Given the description of an element on the screen output the (x, y) to click on. 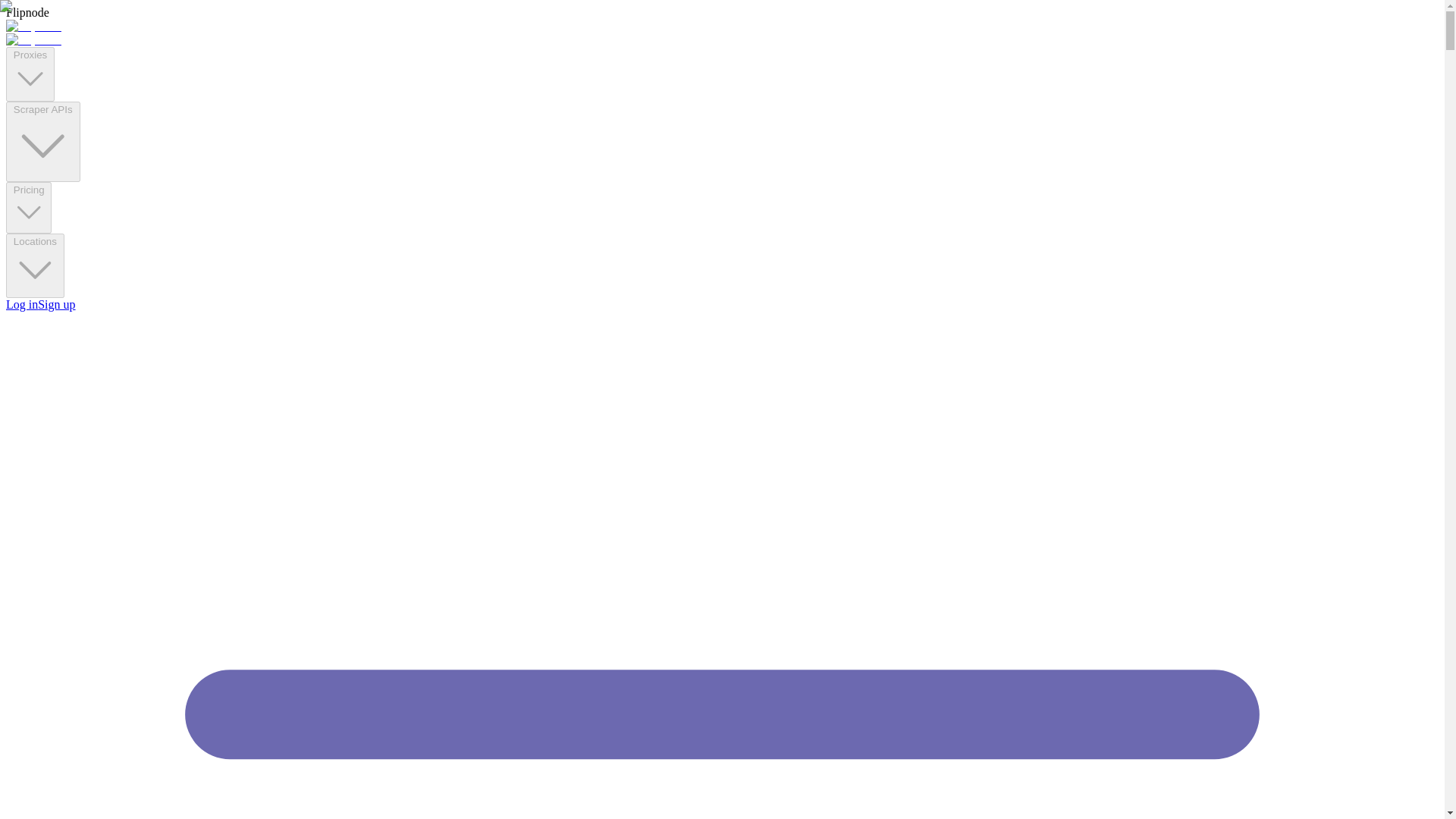
Sign up (56, 304)
Locations (34, 265)
Scraper APIs (42, 141)
Proxies (30, 73)
Log in (21, 304)
